Given the description of an element on the screen output the (x, y) to click on. 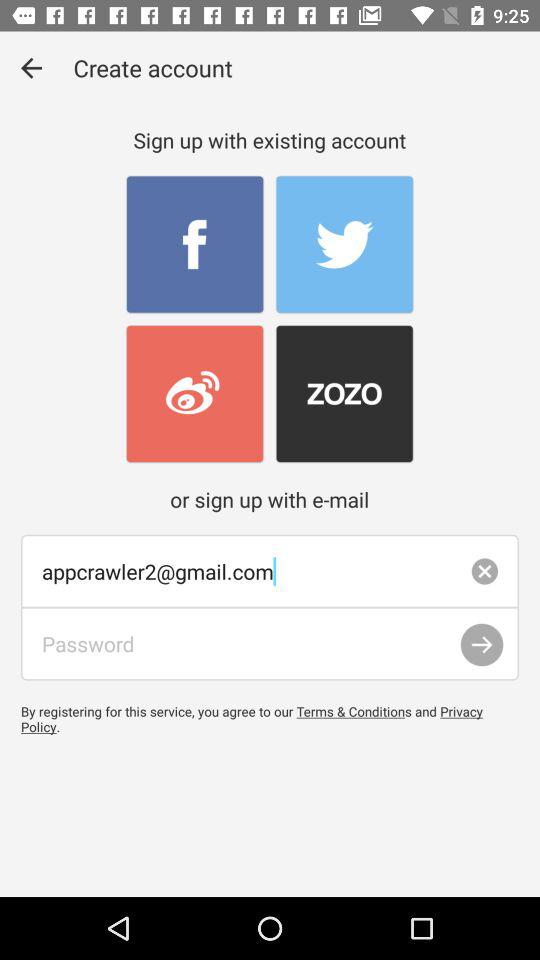
sign in with facebook (194, 244)
